Given the description of an element on the screen output the (x, y) to click on. 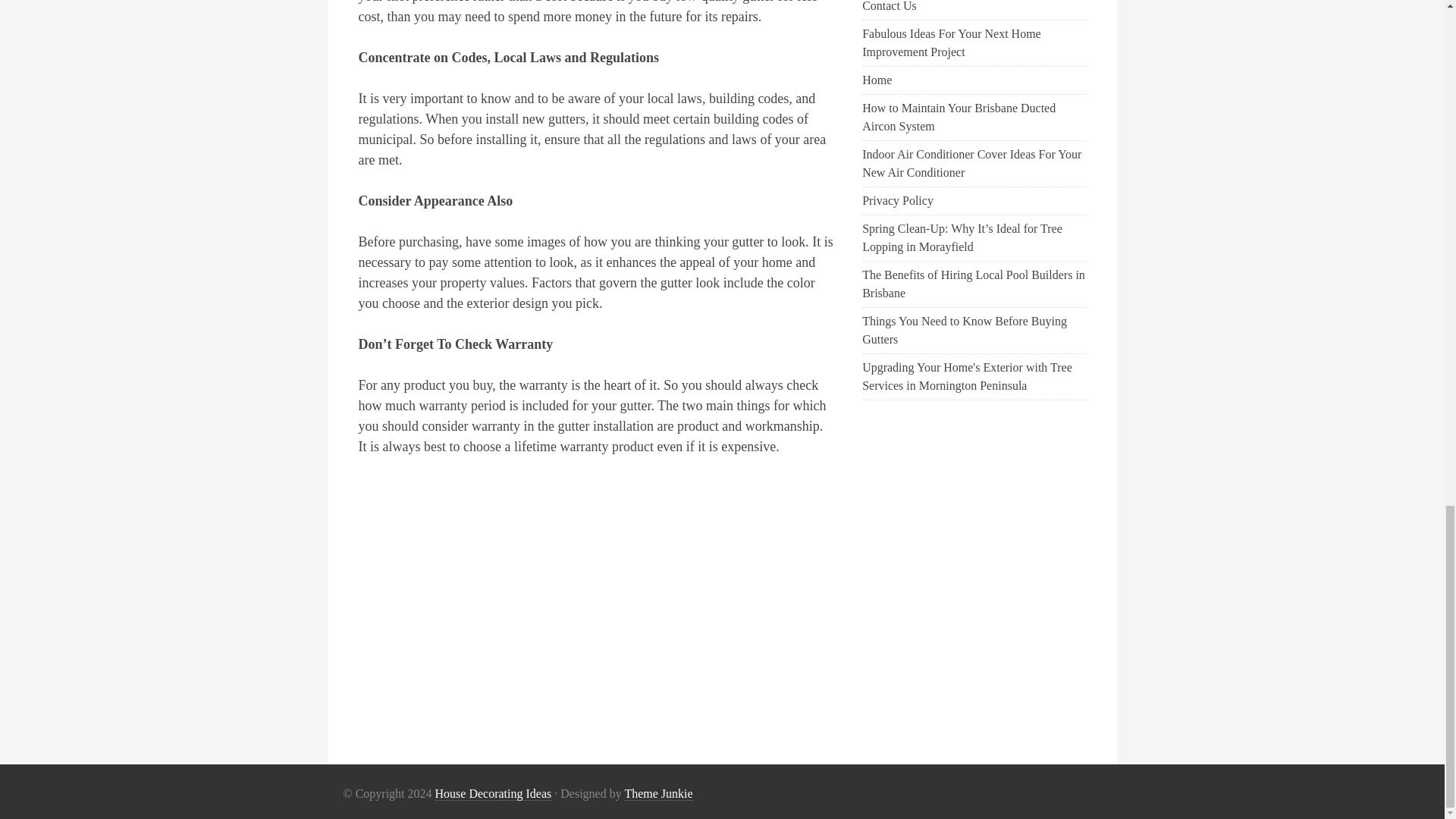
Contact Us (889, 6)
Theme Junkie (658, 793)
The Benefits of Hiring Local Pool Builders in Brisbane (972, 283)
Privacy Policy (897, 200)
Home (876, 79)
Things You Need to Know Before Buying Gutters (964, 329)
House Decorating Ideas (493, 793)
Fabulous Ideas For Your Next Home Improvement Project (951, 42)
How to Maintain Your Brisbane Ducted Aircon System (958, 116)
